Given the description of an element on the screen output the (x, y) to click on. 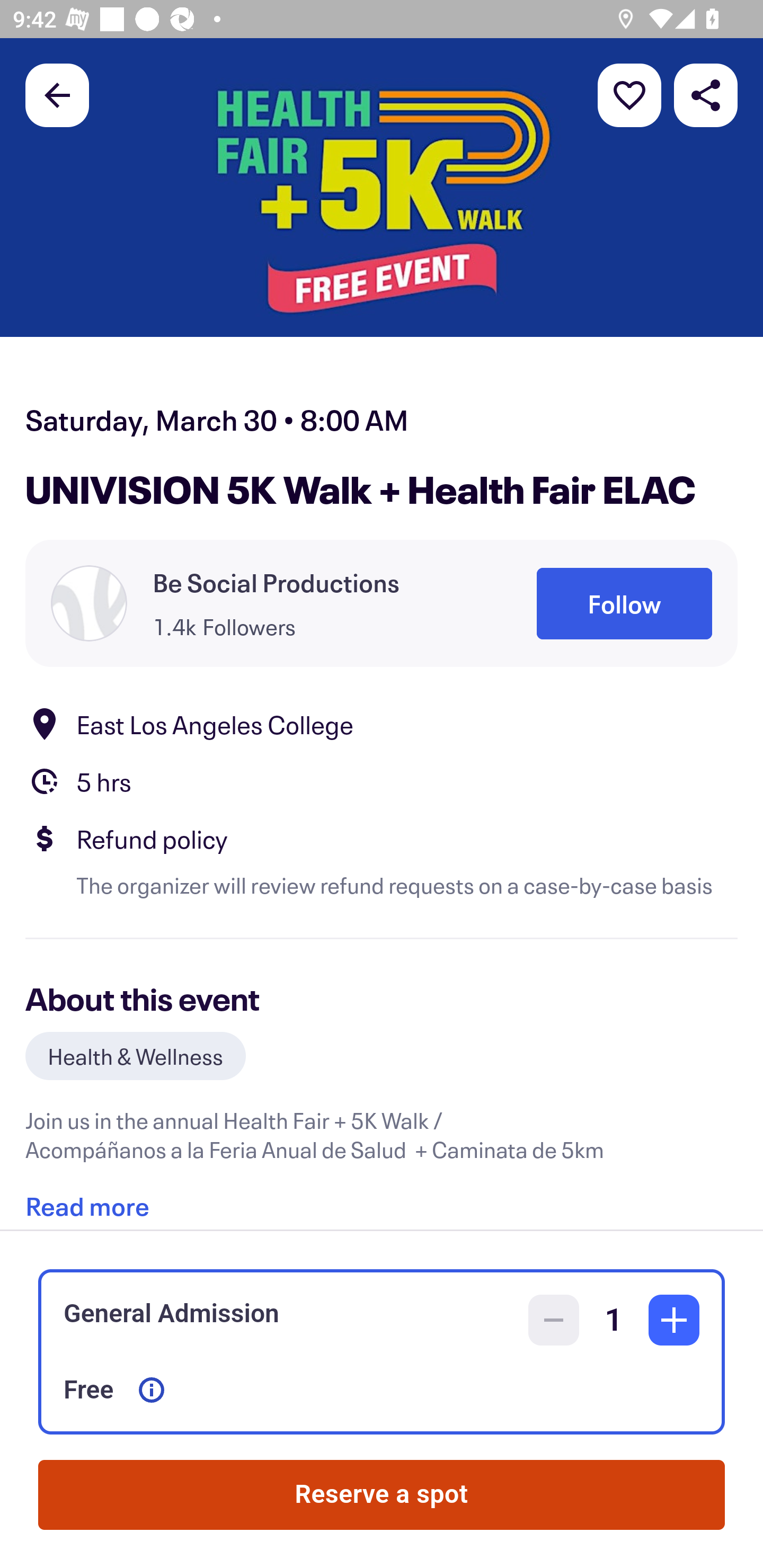
Back (57, 94)
More (629, 94)
Share (705, 94)
Be Social Productions (275, 582)
Organizer profile picture (89, 602)
Follow (623, 603)
Location East Los Angeles College (381, 724)
Read more (87, 1199)
